Given the description of an element on the screen output the (x, y) to click on. 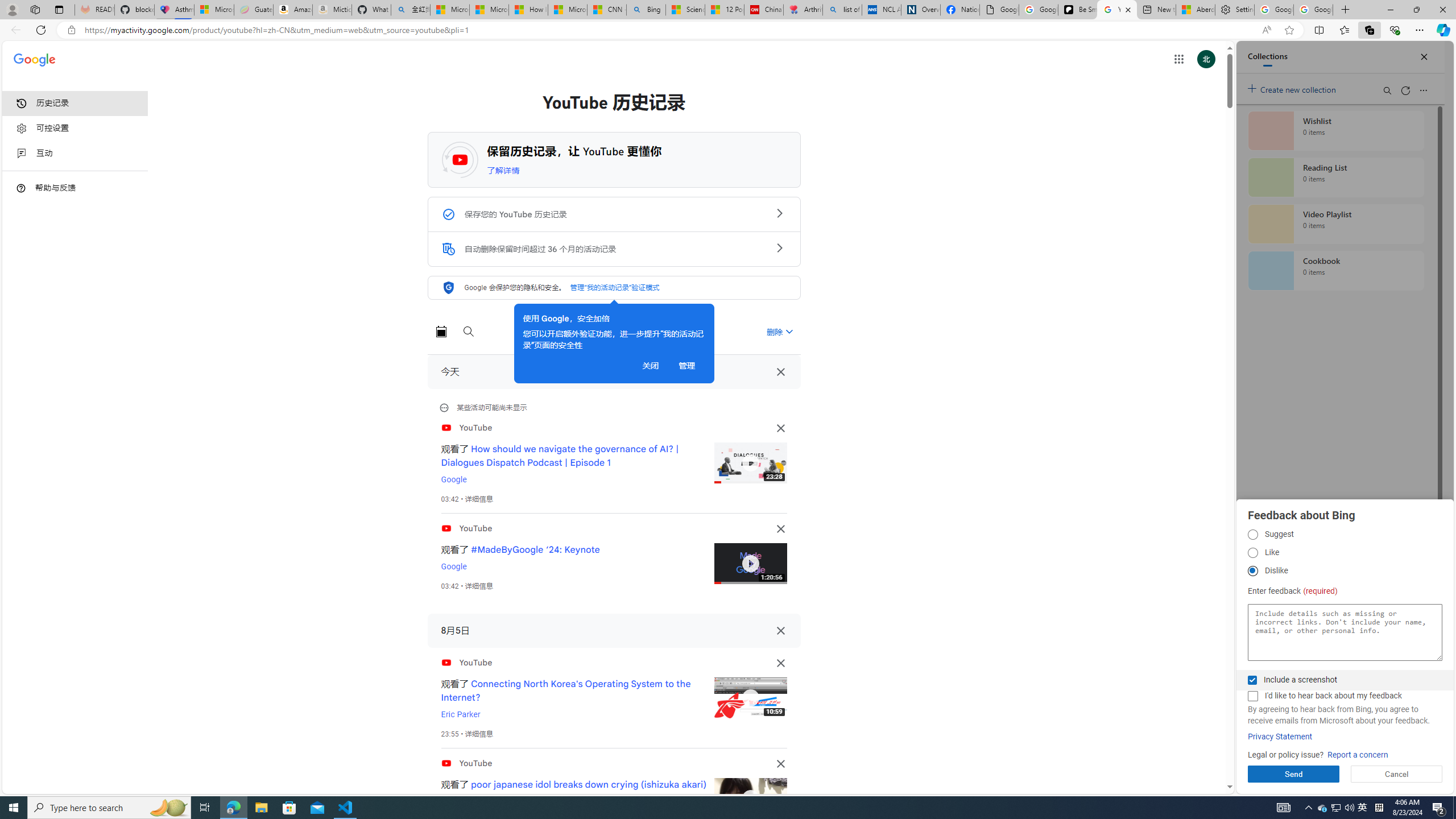
Privacy Statement (1280, 737)
Eric Parker (460, 714)
